Given the description of an element on the screen output the (x, y) to click on. 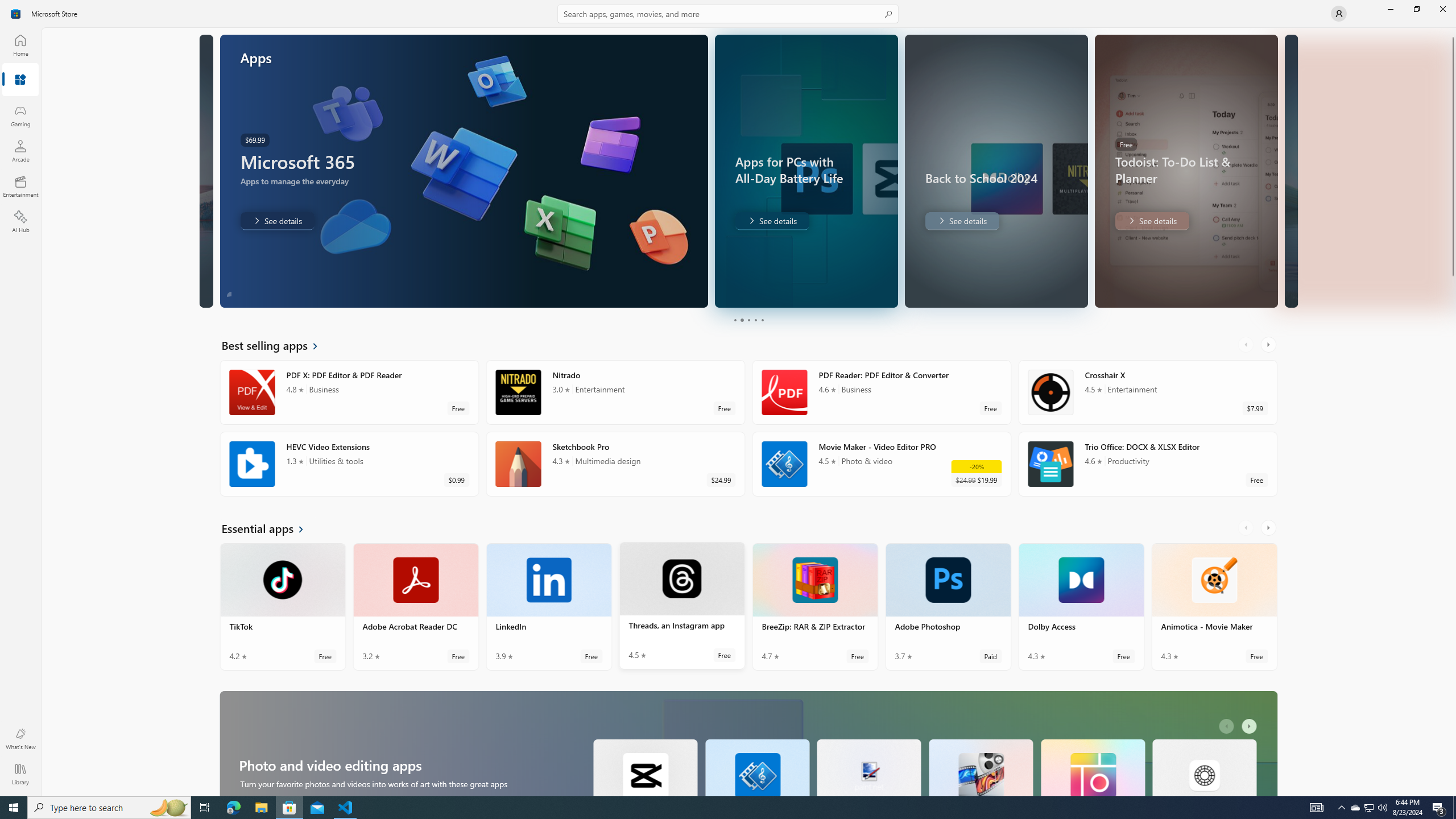
AutomationID: RightScrollButton (1250, 784)
See all  Creativity apps (271, 233)
Library (20, 773)
AutomationID: NavigationControl (728, 398)
Class: Image (15, 13)
